Given the description of an element on the screen output the (x, y) to click on. 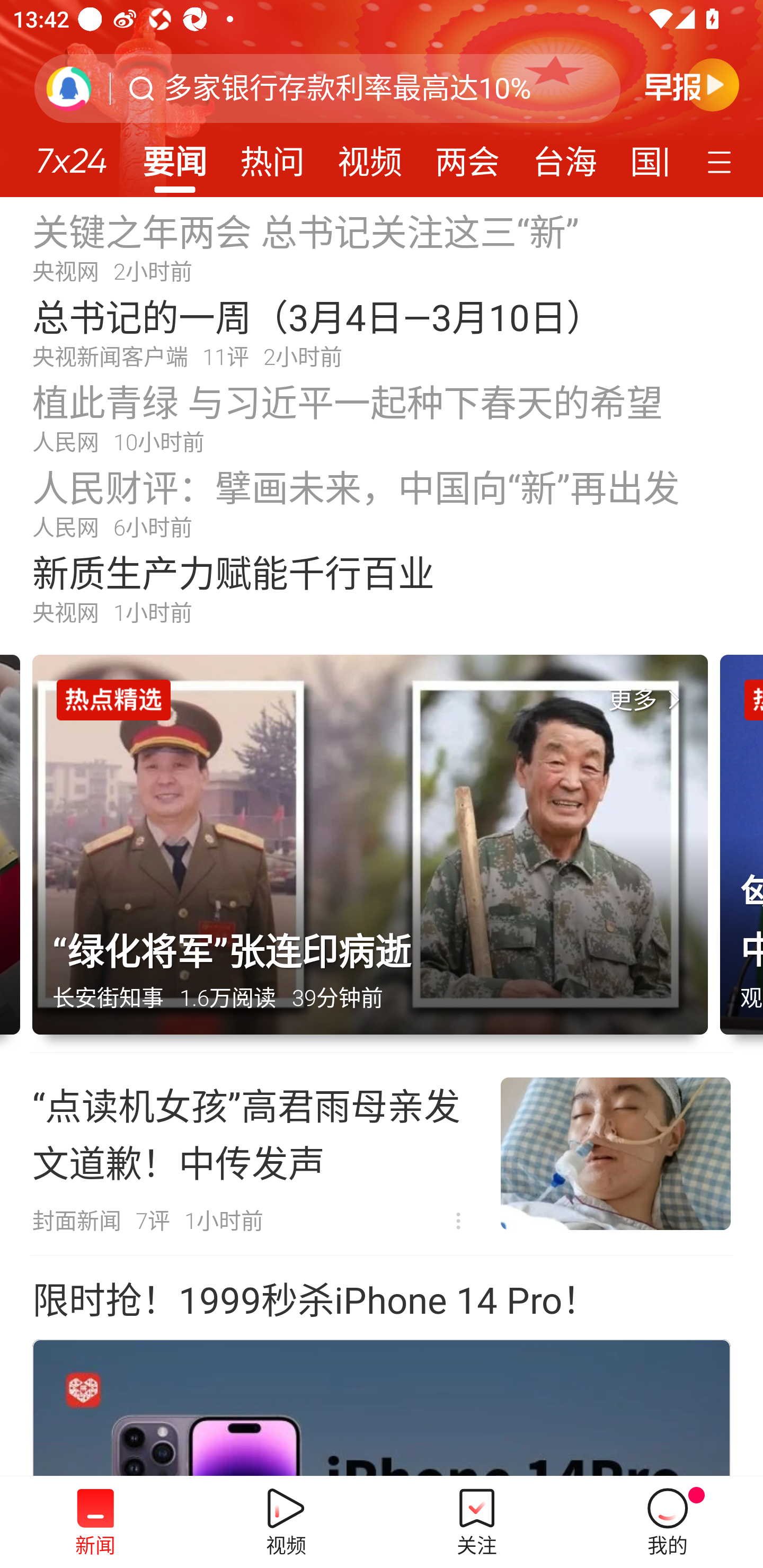
早晚报 (691, 84)
刷新 (68, 88)
多家银行存款利率最高达10% (347, 88)
7x24 (70, 154)
要闻 (174, 155)
热问 (272, 155)
视频 (369, 155)
两会 (466, 155)
台海 (564, 155)
 定制频道 (721, 160)
关键之年两会 总书记关注这三“新” 央视网 2小时前 (381, 245)
总书记的一周（3月4日—3月10日） 央视新闻客户端 11评 2小时前 (381, 331)
植此青绿 与习近平一起种下春天的希望 人民网 10小时前 (381, 416)
人民财评：擘画未来，中国向“新”再出发 人民网 6小时前 (381, 502)
新质生产力赋能千行百业 央视网 1小时前 (381, 587)
更多  “绿化将军”张连印病逝 长安街知事   1.6万阅读   39分钟前 (376, 853)
更多  (648, 699)
“点读机女孩”高君雨母亲发文道歉！中传发声 封面新闻 7评 1小时前  不感兴趣 (381, 1153)
 不感兴趣 (458, 1221)
限时抢！1999秒杀iPhone 14 Pro！ (315, 1301)
